Given the description of an element on the screen output the (x, y) to click on. 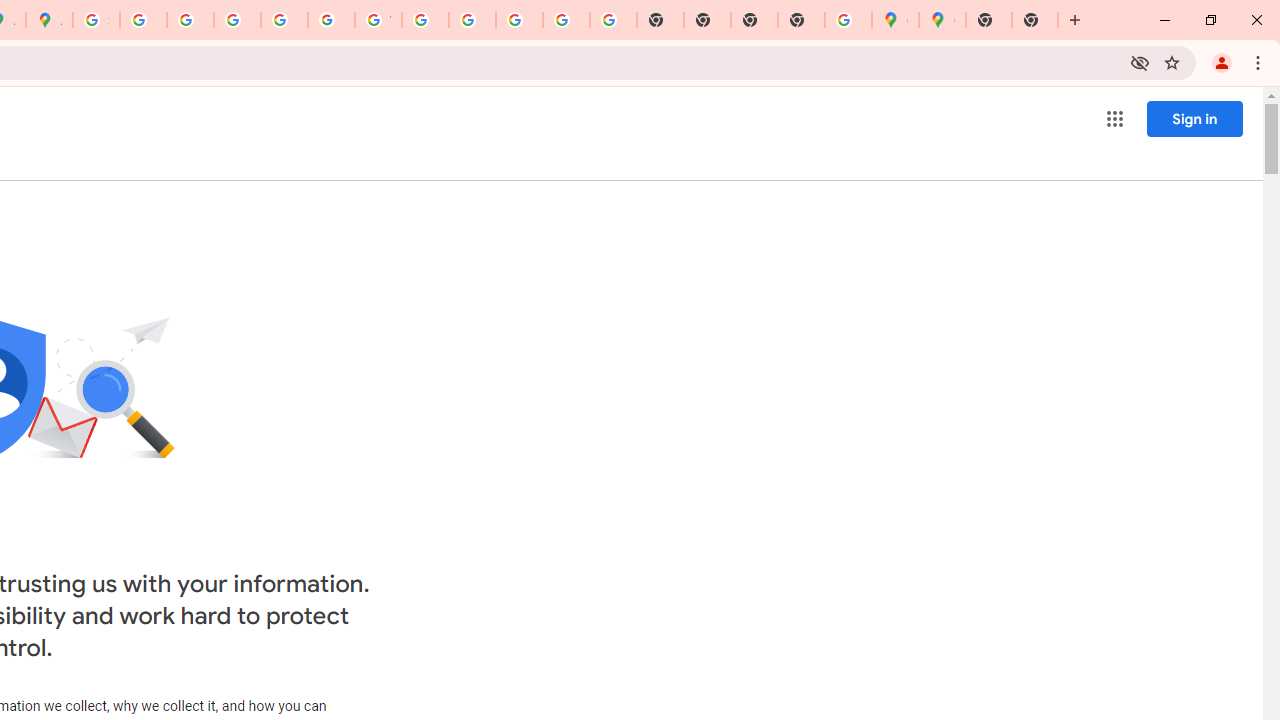
New Tab (801, 20)
Chrome (1260, 62)
Use Google Maps in Space - Google Maps Help (848, 20)
You (1221, 62)
Close (1256, 20)
Bookmark this tab (1171, 62)
YouTube (377, 20)
Minimize (1165, 20)
Google apps (1114, 118)
Google Maps (895, 20)
Sign in (1194, 118)
